Given the description of an element on the screen output the (x, y) to click on. 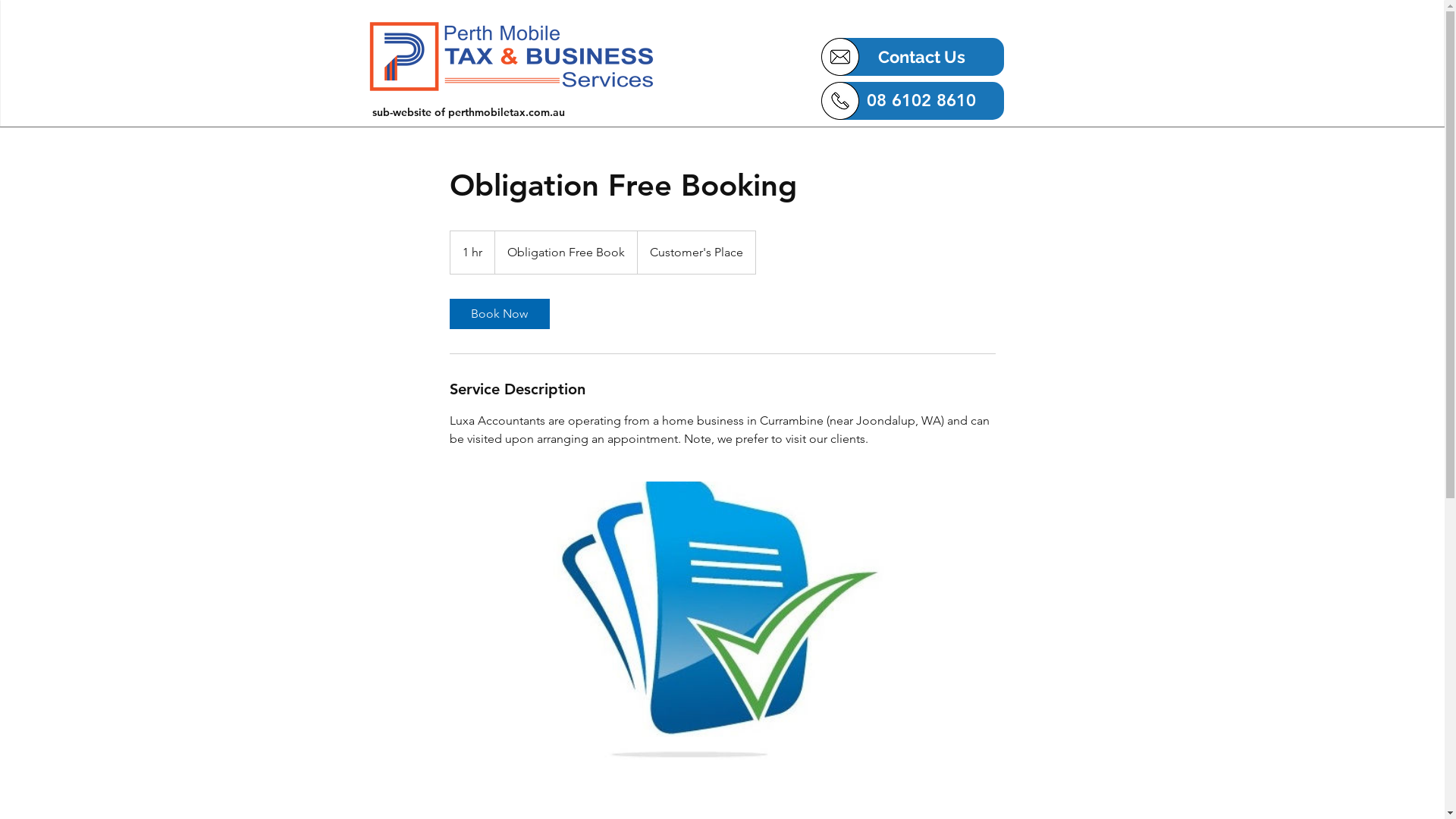
08 6102 8610 Element type: text (920, 100)
Book Now Element type: text (498, 313)
Contact Us Element type: text (920, 56)
